Given the description of an element on the screen output the (x, y) to click on. 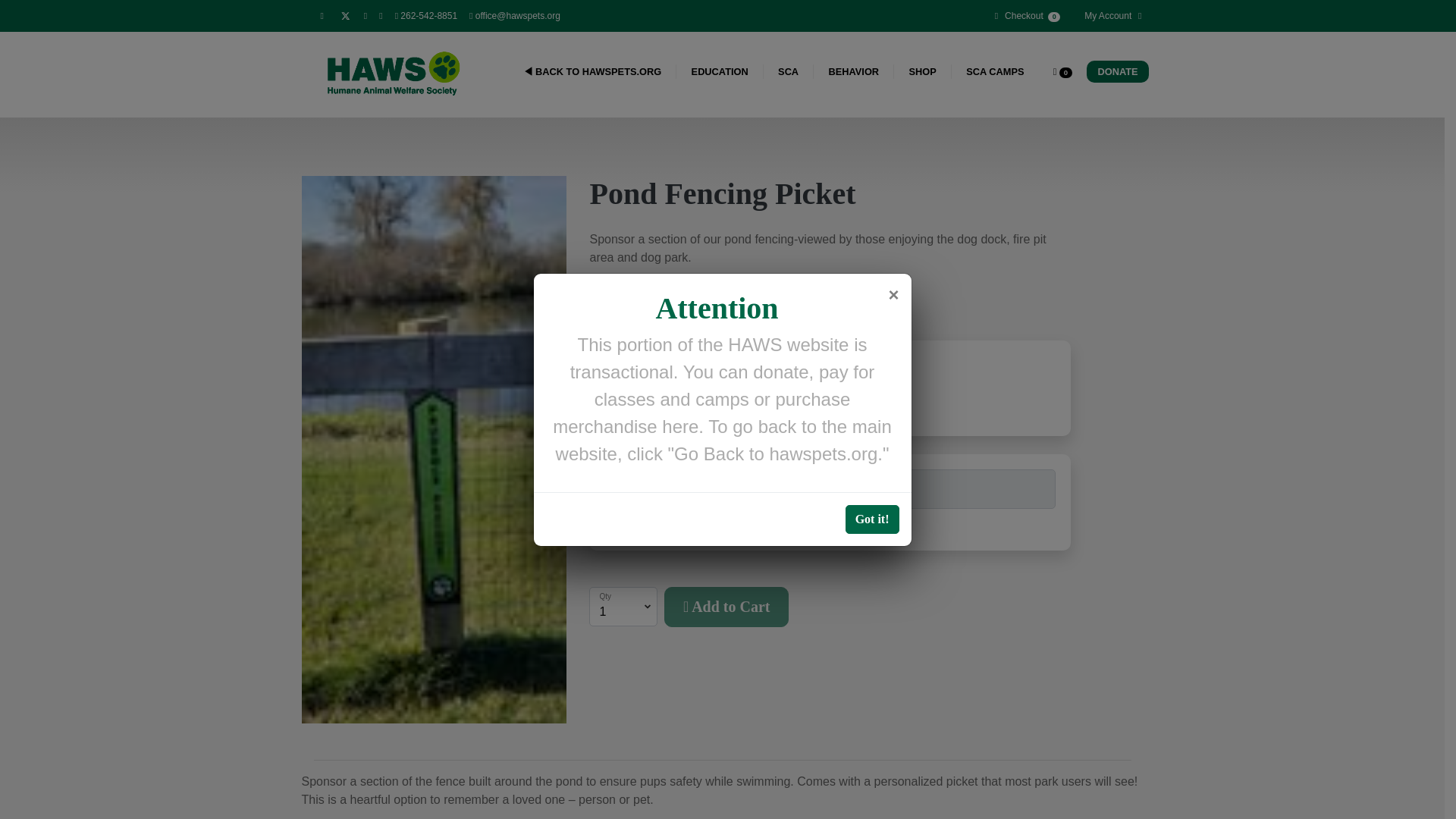
1 (619, 389)
0 (665, 389)
 0 (1062, 71)
DONATE (1117, 71)
My Account (1108, 15)
 Checkout  0 (1024, 15)
SCA (787, 71)
SCA CAMPS (995, 71)
BEHAVIOR (853, 71)
SHOP (922, 71)
EDUCATION (719, 71)
200.00 (613, 292)
